Given the description of an element on the screen output the (x, y) to click on. 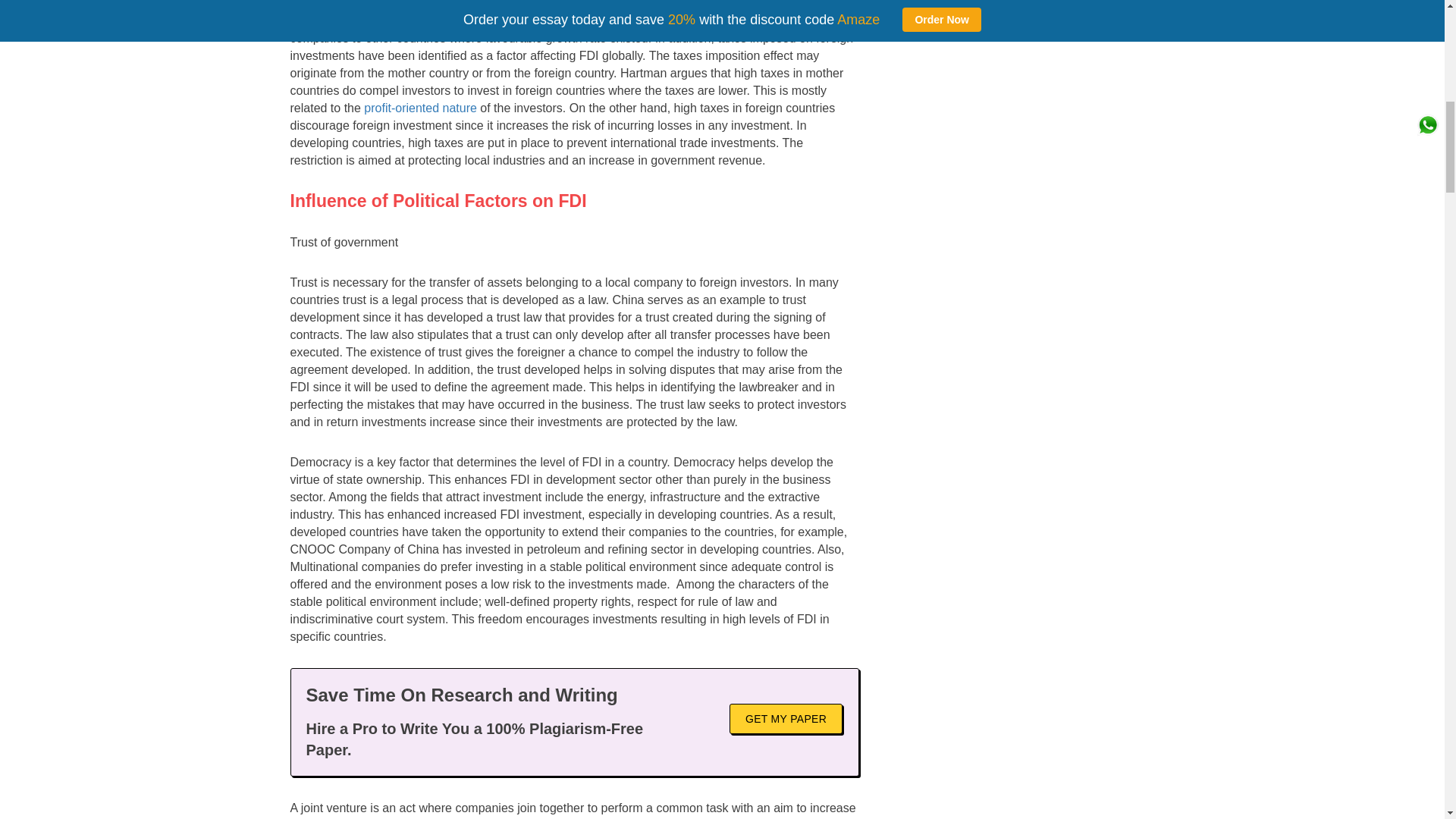
profit-oriented nature (420, 107)
GET MY PAPER (786, 718)
